Given the description of an element on the screen output the (x, y) to click on. 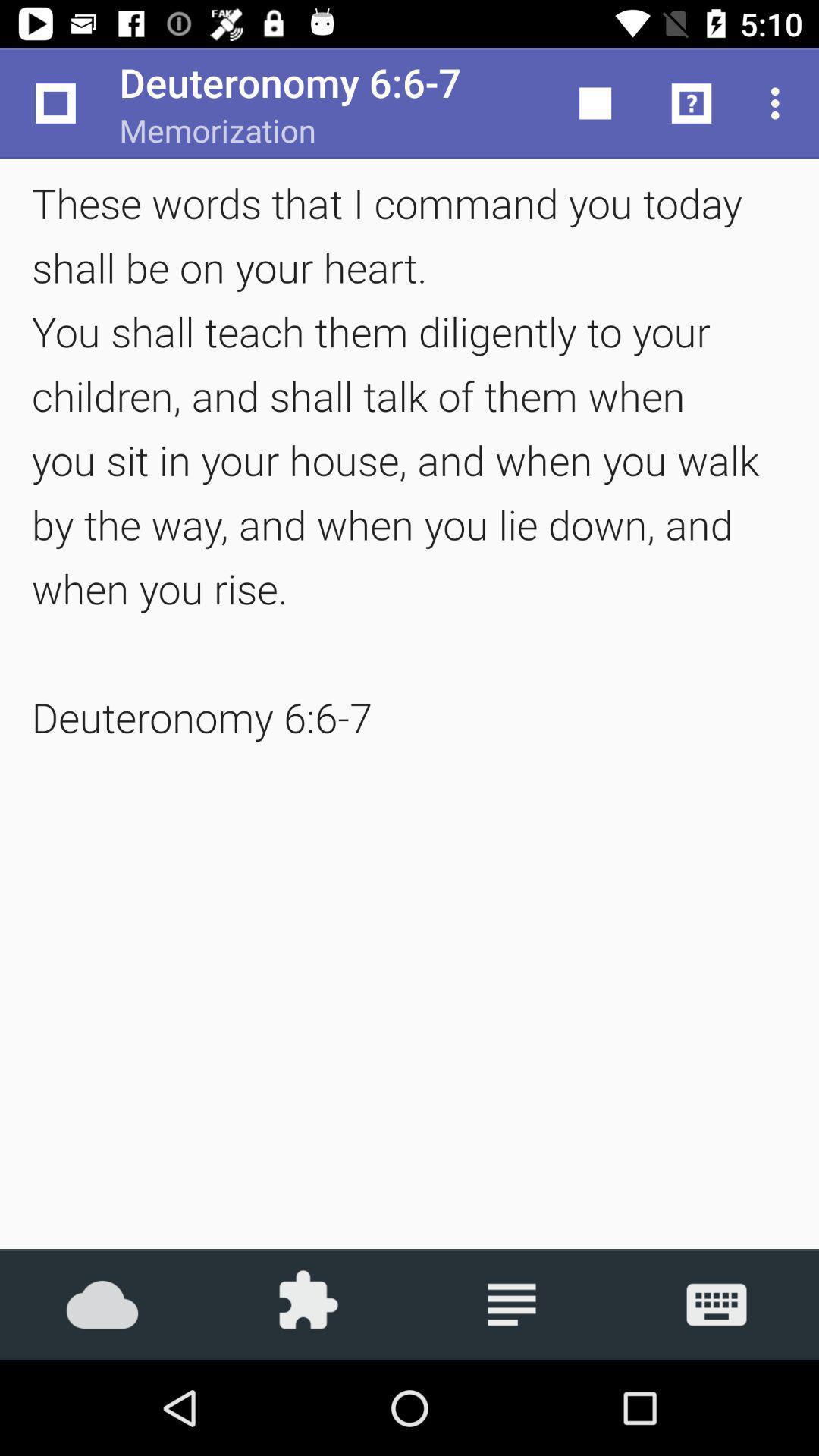
bring up keyboard (716, 1304)
